Given the description of an element on the screen output the (x, y) to click on. 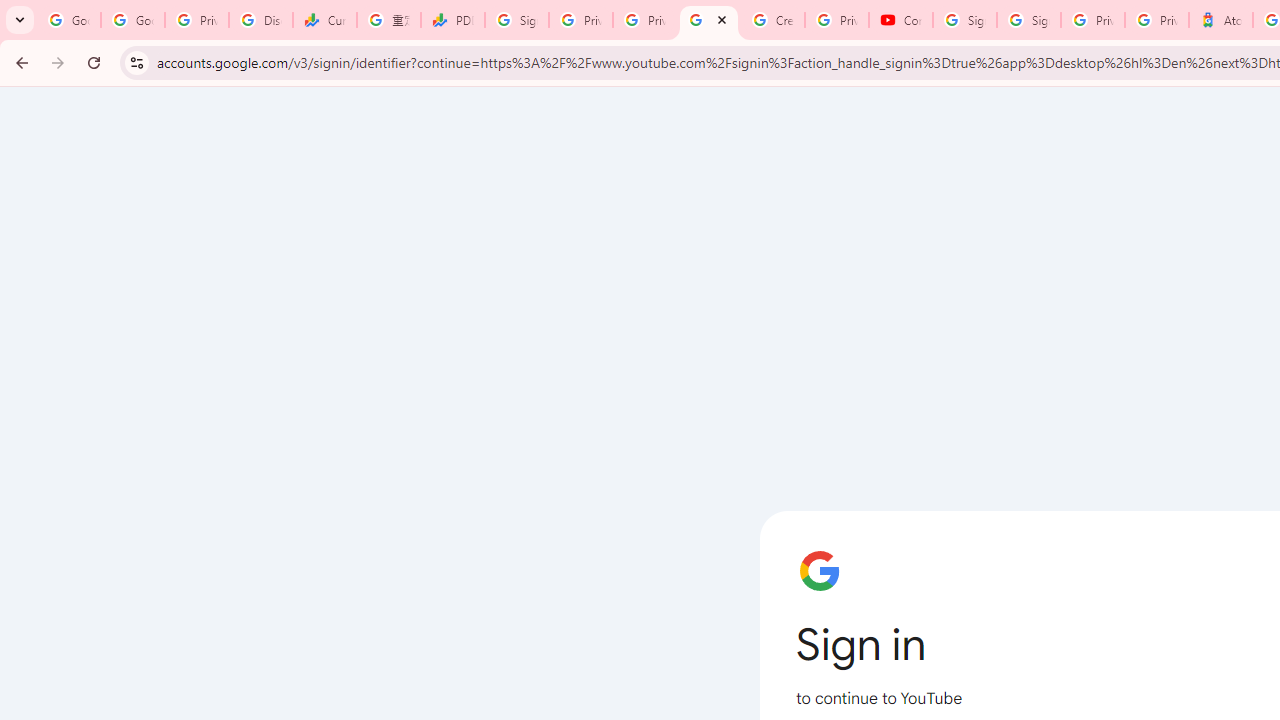
Privacy Checkup (645, 20)
Currencies - Google Finance (325, 20)
Atour Hotel - Google hotels (1221, 20)
Google Workspace Admin Community (69, 20)
